Given the description of an element on the screen output the (x, y) to click on. 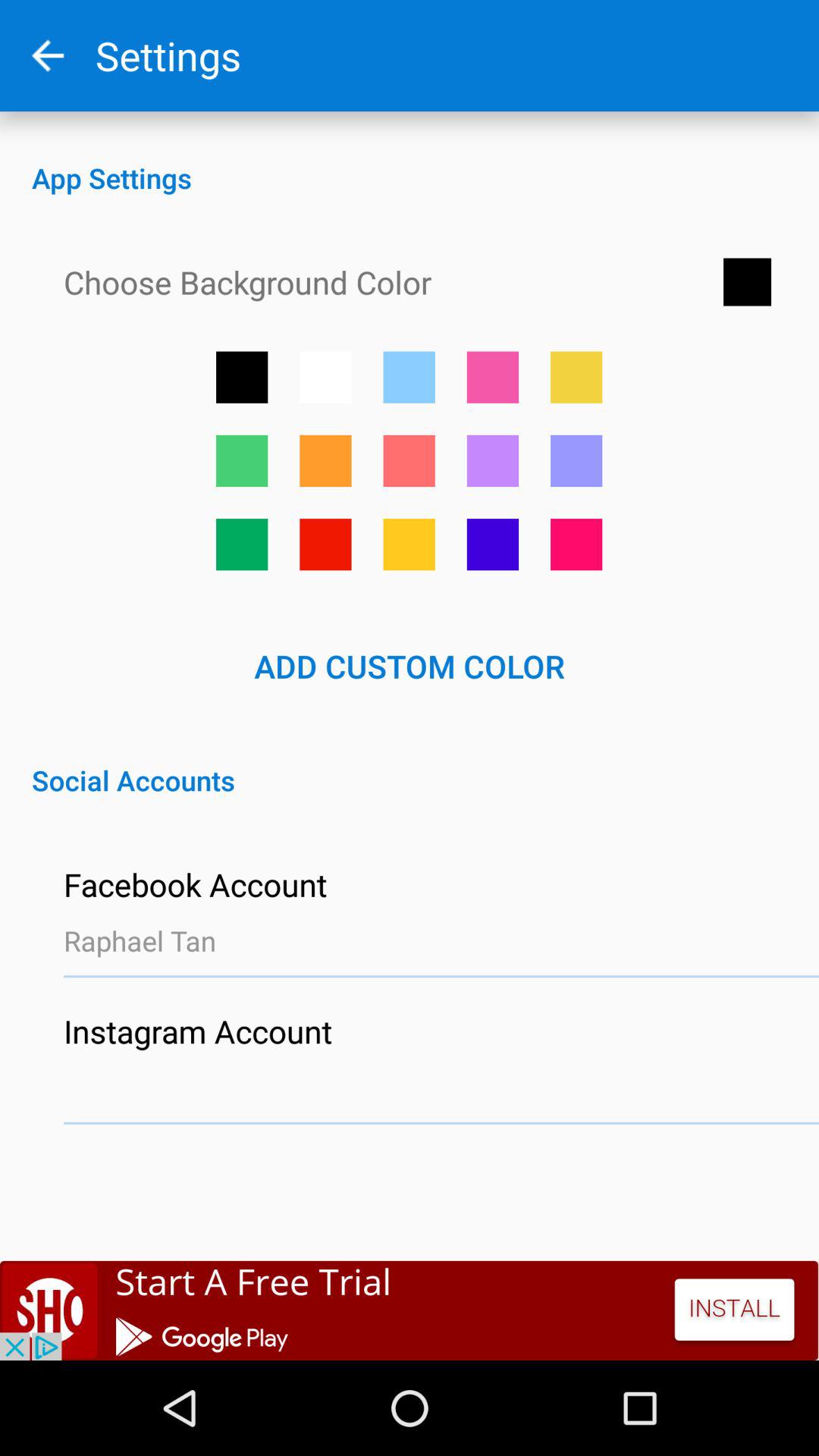
go to button (409, 460)
